Given the description of an element on the screen output the (x, y) to click on. 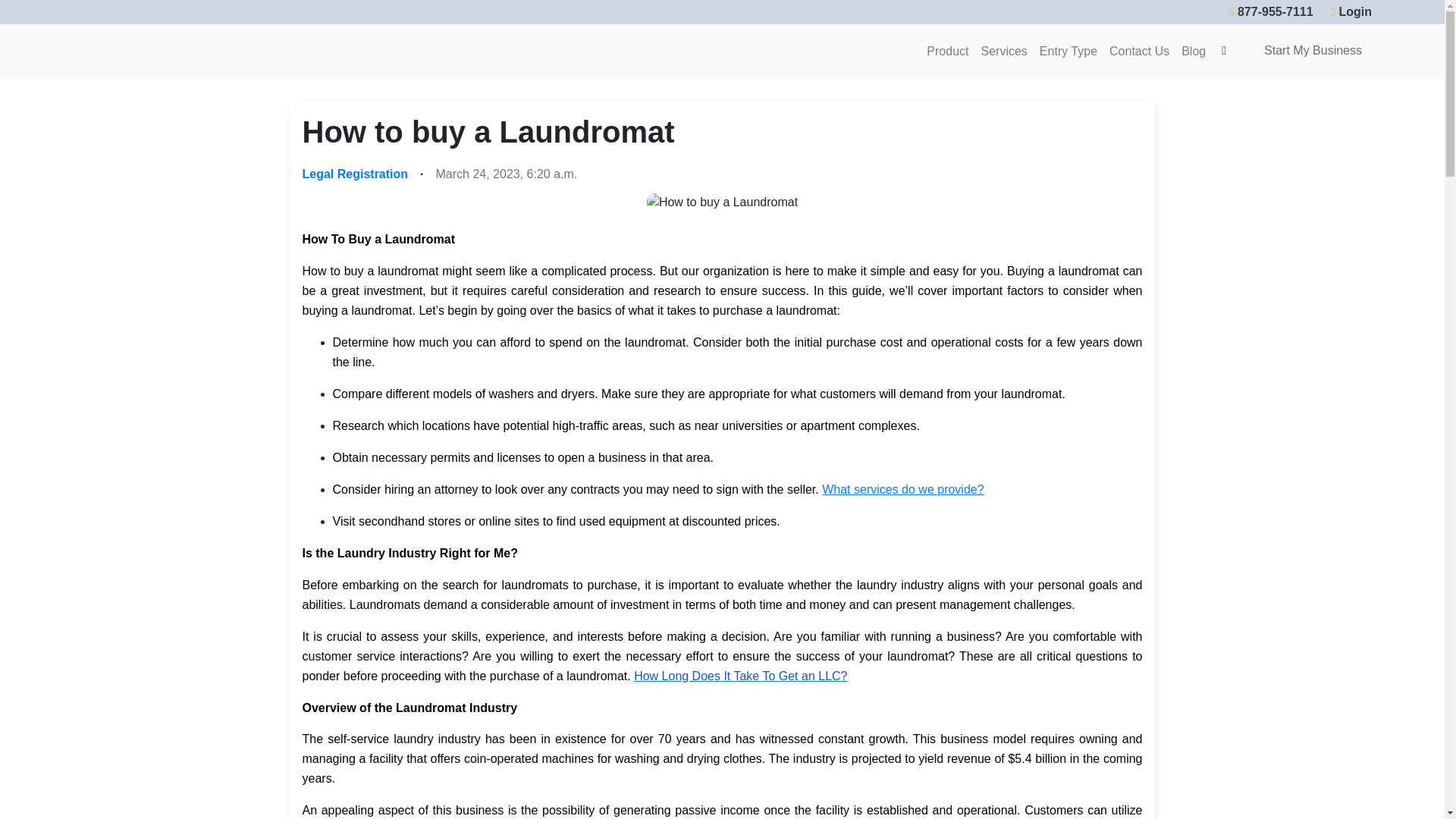
What services do we provide? (903, 488)
Blog (1192, 51)
Product (947, 51)
Login (1351, 12)
Services (1004, 51)
How Long Does It Take To Get an LLC? (740, 675)
Entry Type (1068, 51)
Contact Us (1138, 51)
Start My Business (1312, 50)
877-955-7111 (1271, 12)
